Given the description of an element on the screen output the (x, y) to click on. 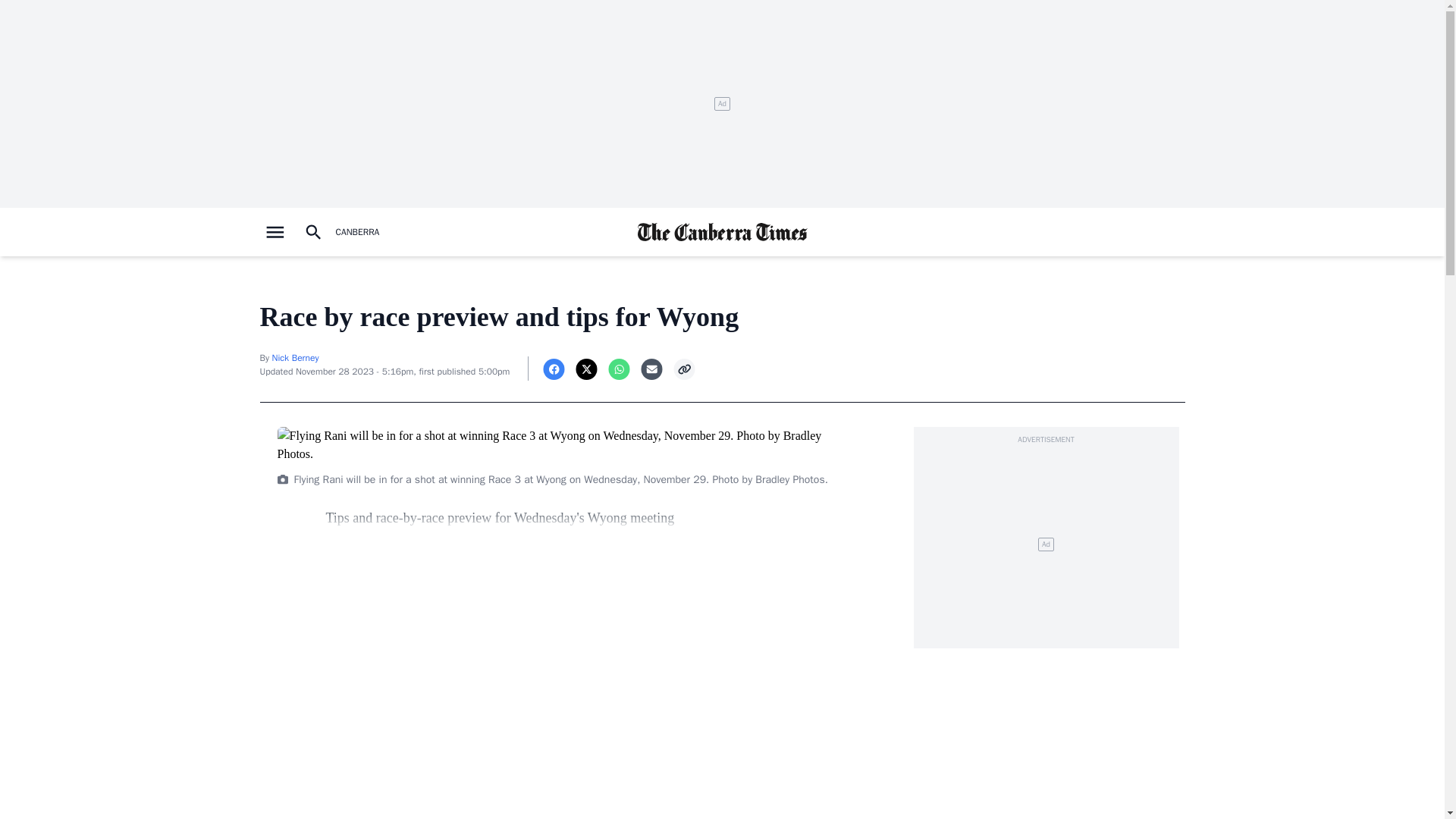
CANBERRA (357, 232)
